Given the description of an element on the screen output the (x, y) to click on. 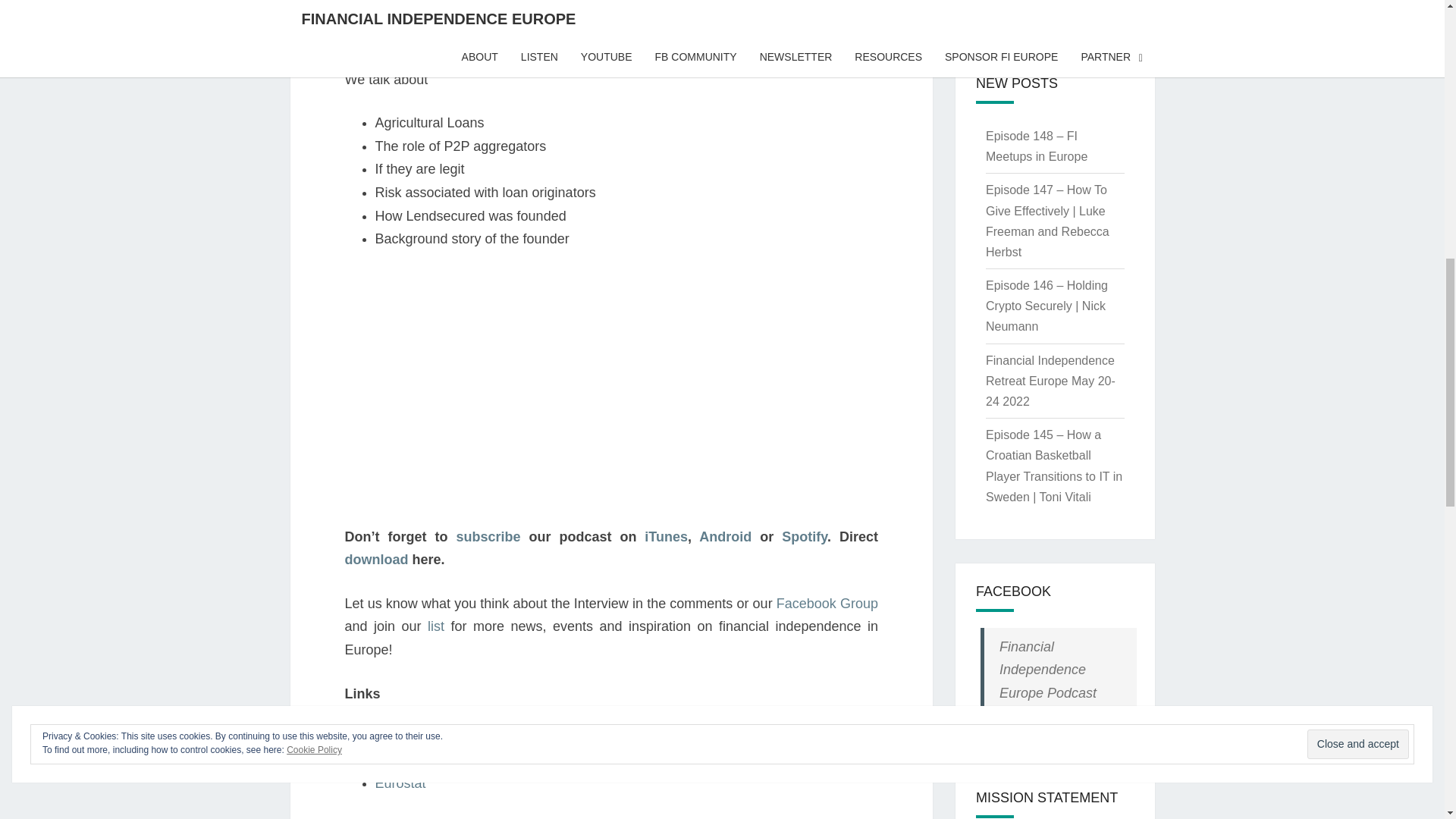
Facebook Group (826, 603)
subscribe (487, 536)
lendsecured.eu (420, 736)
iTunes (666, 536)
Android (724, 536)
Spotify (804, 536)
list (436, 626)
Cashback for Lendsecured grain loans (491, 760)
download (375, 559)
Subscribe (1005, 6)
Eurostat (399, 783)
